Given the description of an element on the screen output the (x, y) to click on. 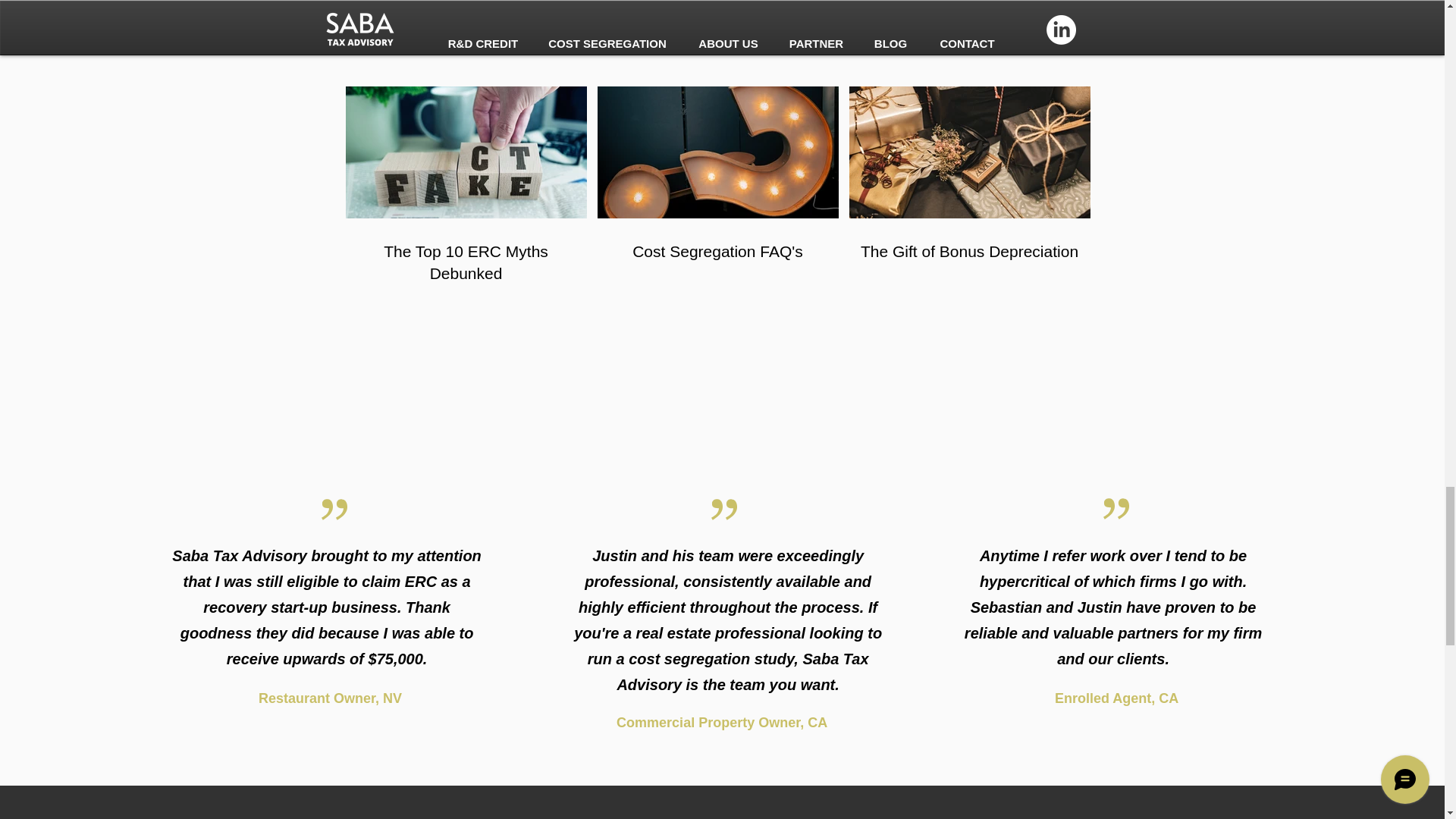
The Top 10 ERC Myths Debunked (466, 262)
The Gift of Bonus Depreciation (969, 251)
Cost Segregation FAQ's (717, 251)
